Given the description of an element on the screen output the (x, y) to click on. 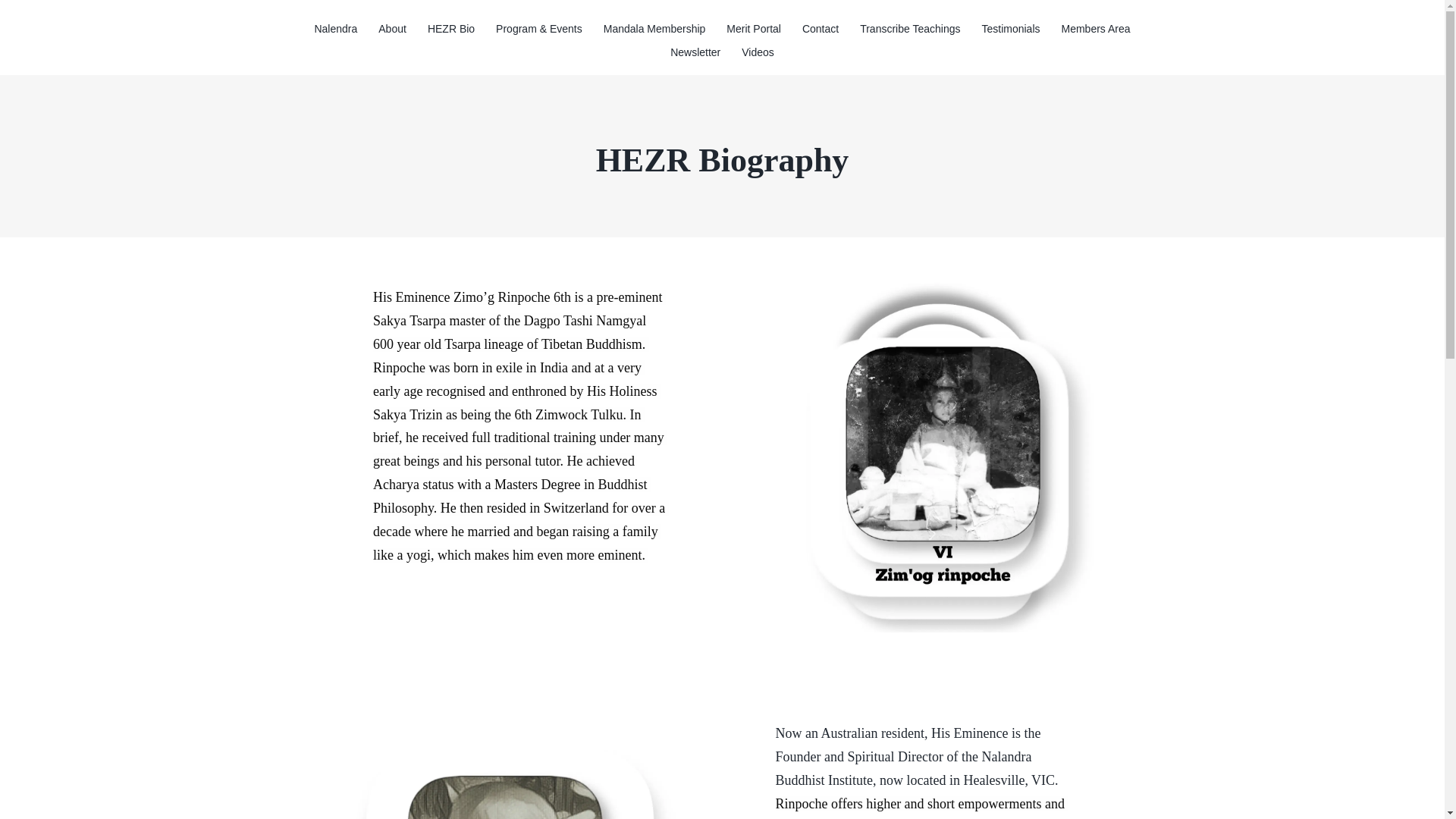
Transcribe Teachings (909, 28)
About (392, 28)
Contact (820, 28)
Merit Portal (754, 28)
Newsletter (694, 52)
Nalendra (335, 28)
Mandala Membership (654, 28)
Testimonials (1010, 28)
Videos (757, 52)
HEZR Bio (450, 28)
Members Area (1096, 28)
